Given the description of an element on the screen output the (x, y) to click on. 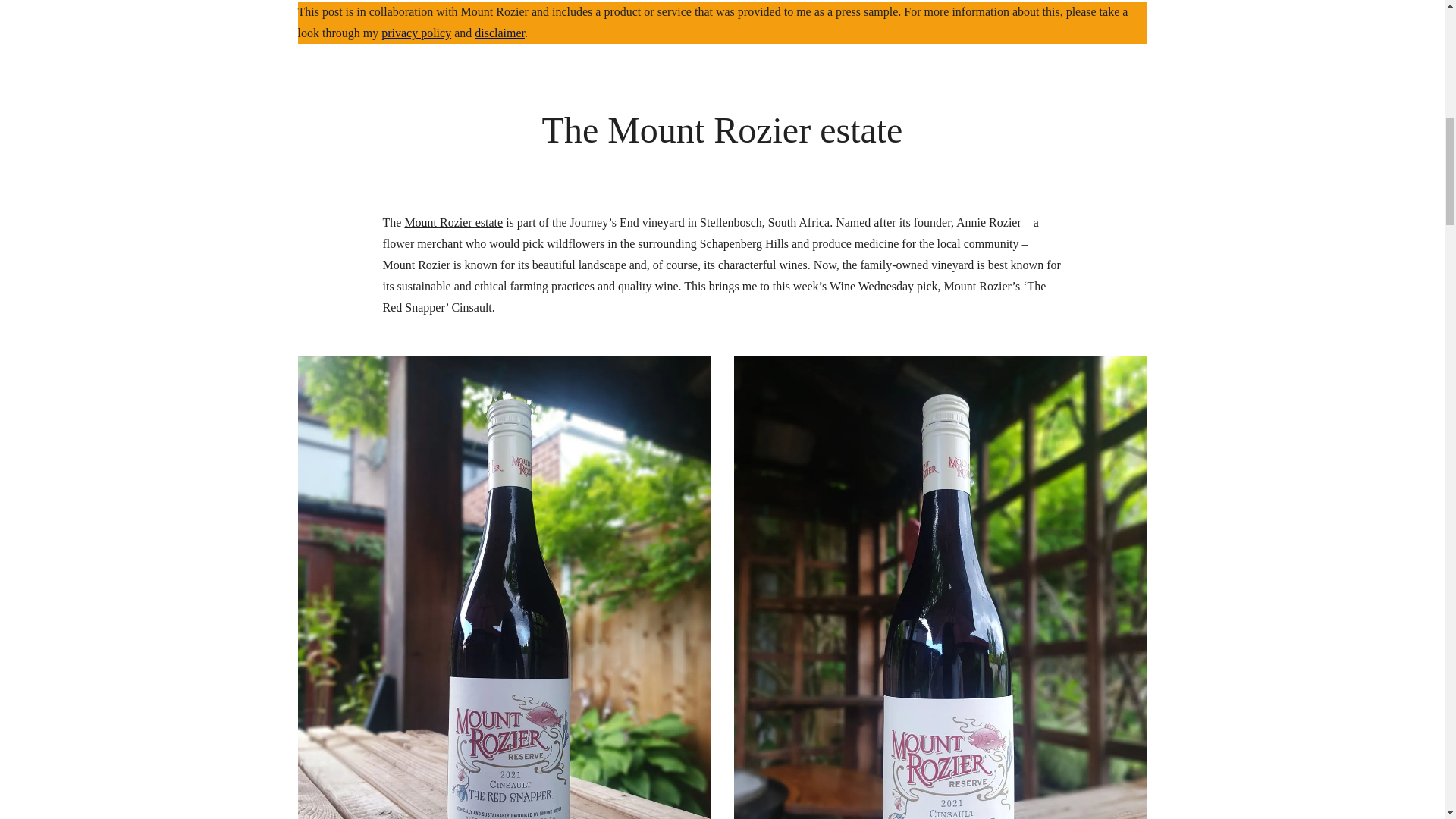
disclaimer (499, 32)
privacy policy (416, 32)
Mount Rozier estate (453, 222)
